Given the description of an element on the screen output the (x, y) to click on. 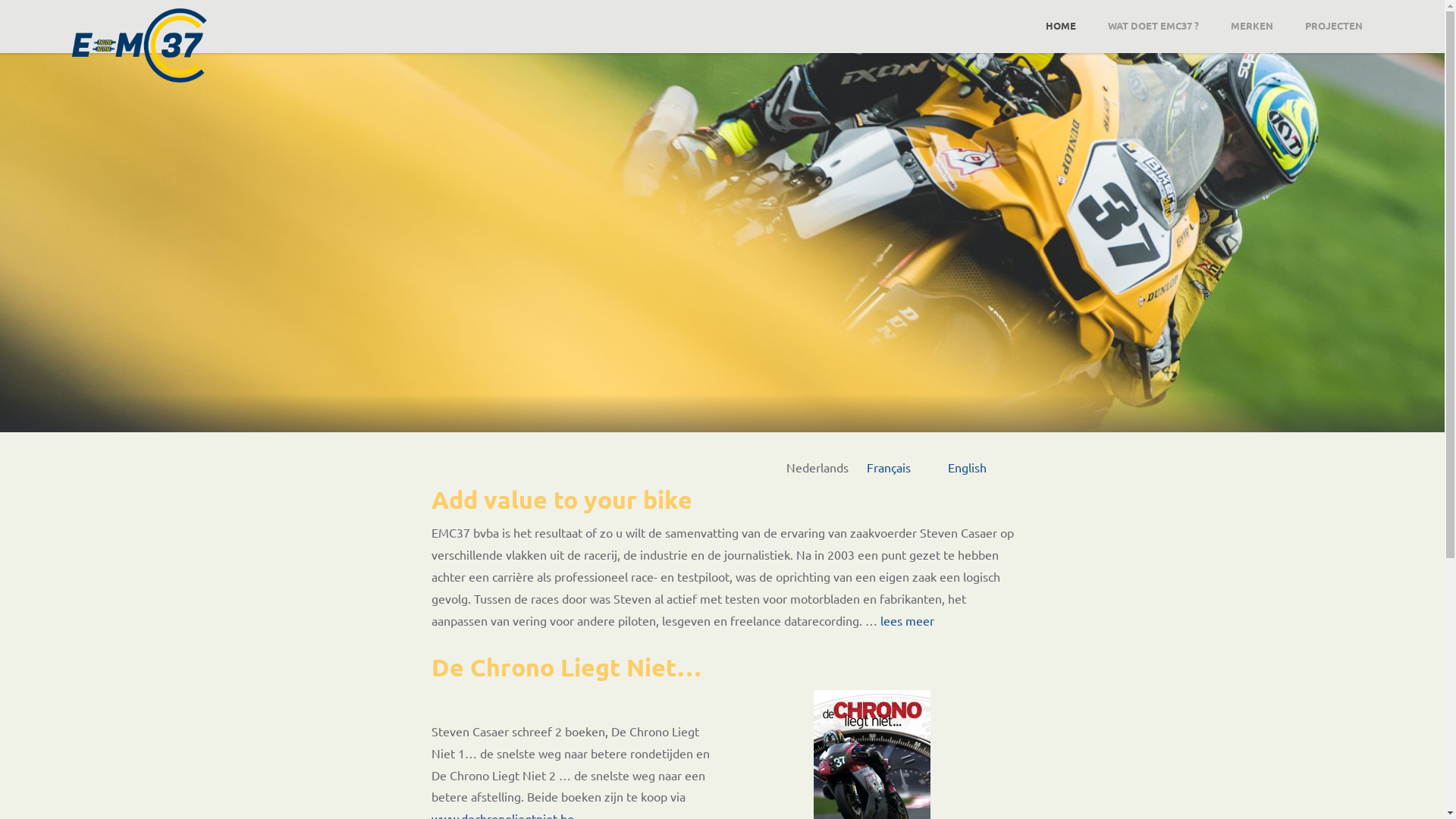
MERKEN Element type: text (1251, 24)
WAT DOET EMC37 ? Element type: text (1153, 24)
HOME Element type: text (1060, 24)
English Element type: text (966, 466)
lees meer Element type: text (906, 619)
PROJECTEN Element type: text (1333, 24)
